Given the description of an element on the screen output the (x, y) to click on. 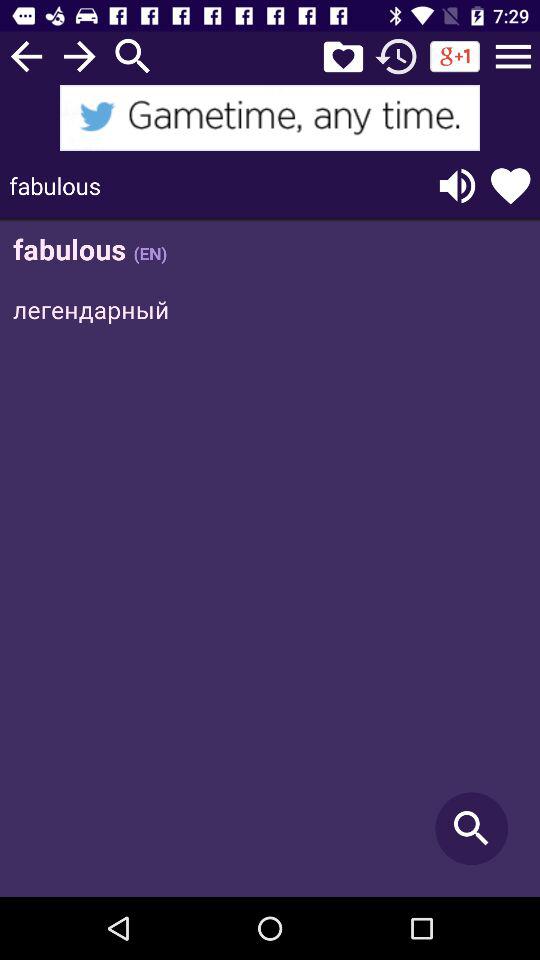
search option (133, 56)
